Given the description of an element on the screen output the (x, y) to click on. 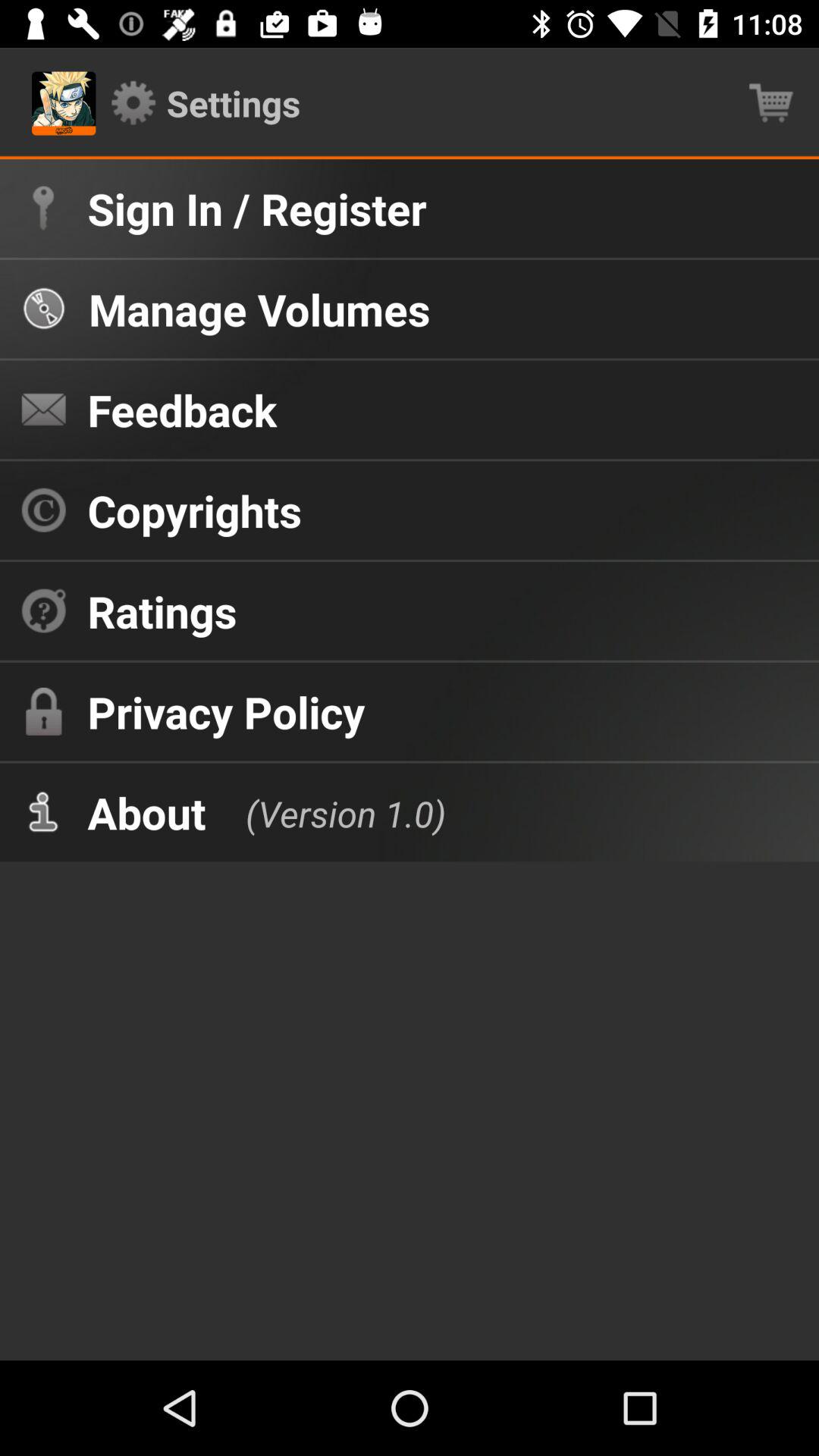
turn off item below privacy policy item (146, 812)
